Given the description of an element on the screen output the (x, y) to click on. 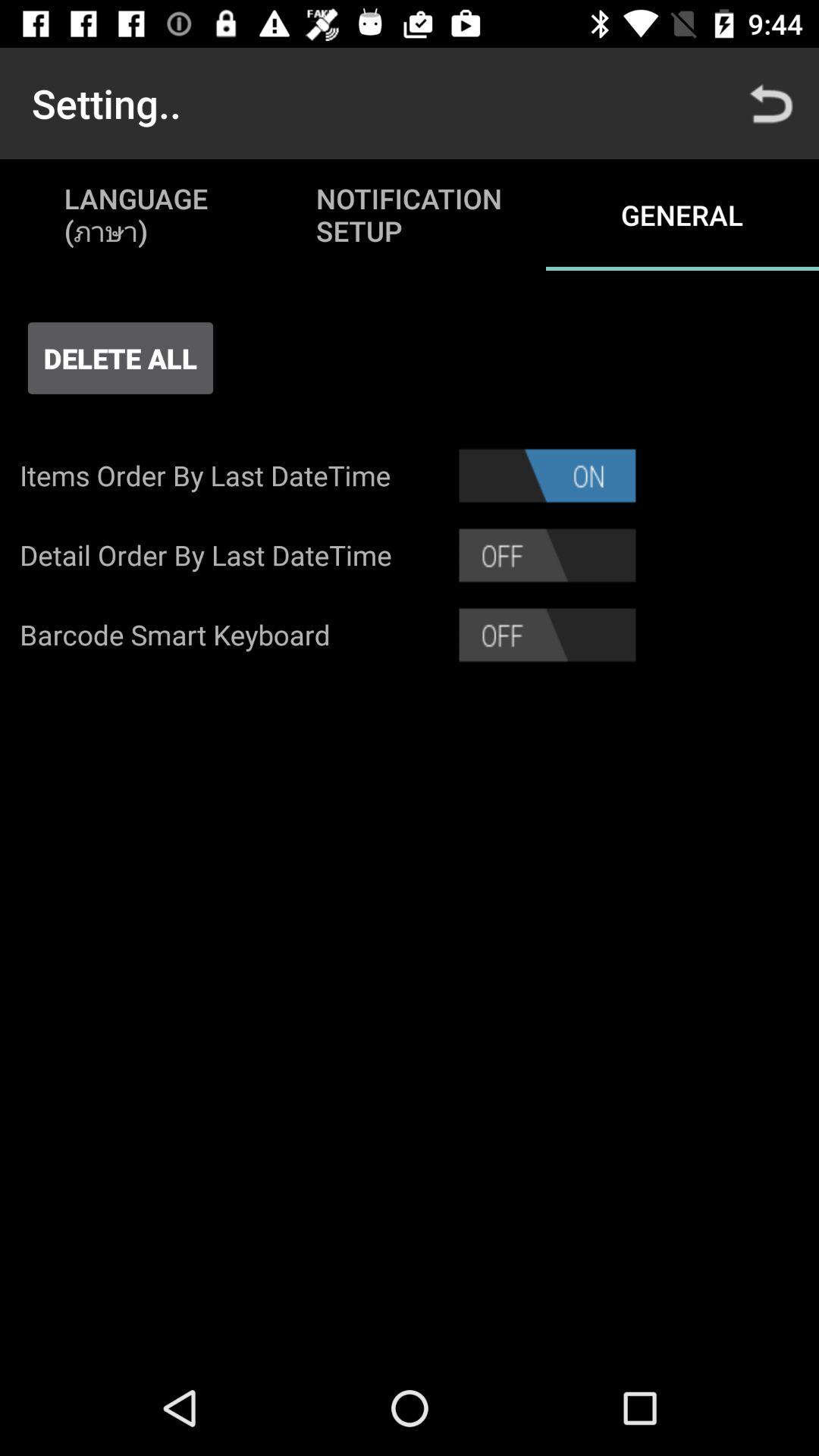
i can turn on or off notifications listed by last date time (547, 475)
